Given the description of an element on the screen output the (x, y) to click on. 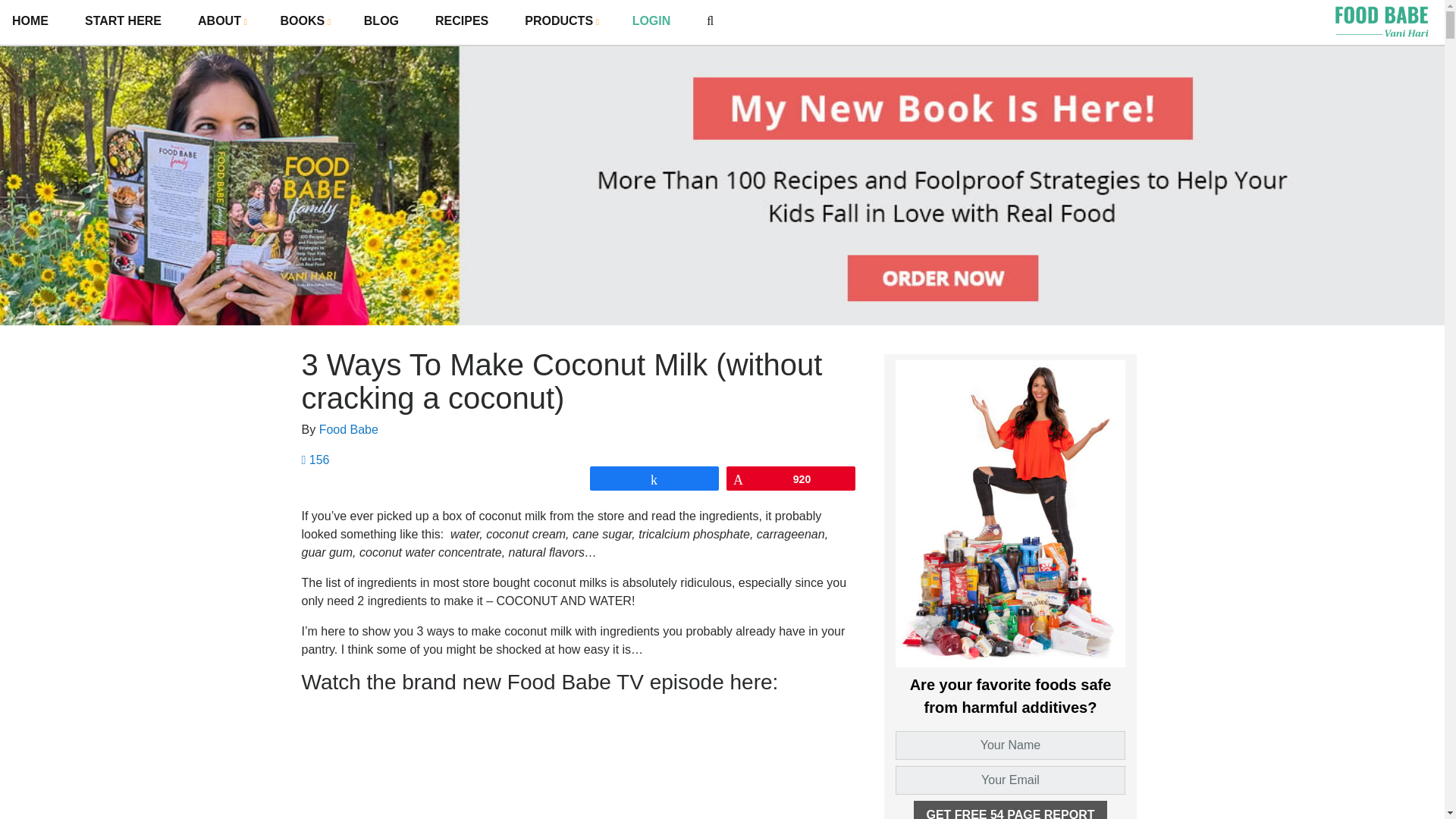
HOME (29, 21)
ABOUT (220, 20)
LOGIN (651, 21)
PRODUCTS (559, 20)
BOOKS (304, 20)
920 (789, 477)
START HERE (122, 21)
RECIPES (461, 21)
156 (315, 459)
BLOG (381, 21)
